Given the description of an element on the screen output the (x, y) to click on. 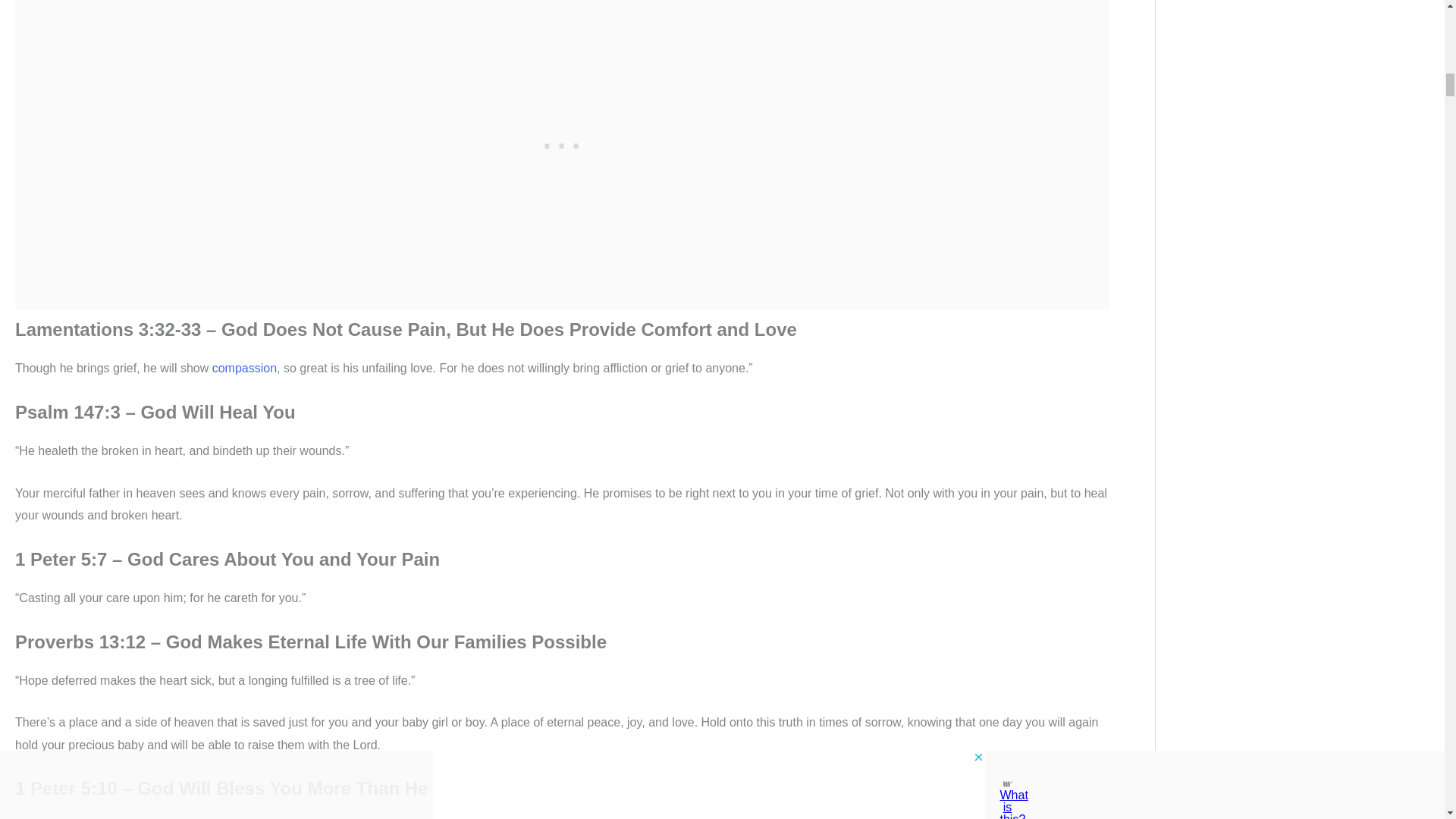
compassion (244, 367)
